Given the description of an element on the screen output the (x, y) to click on. 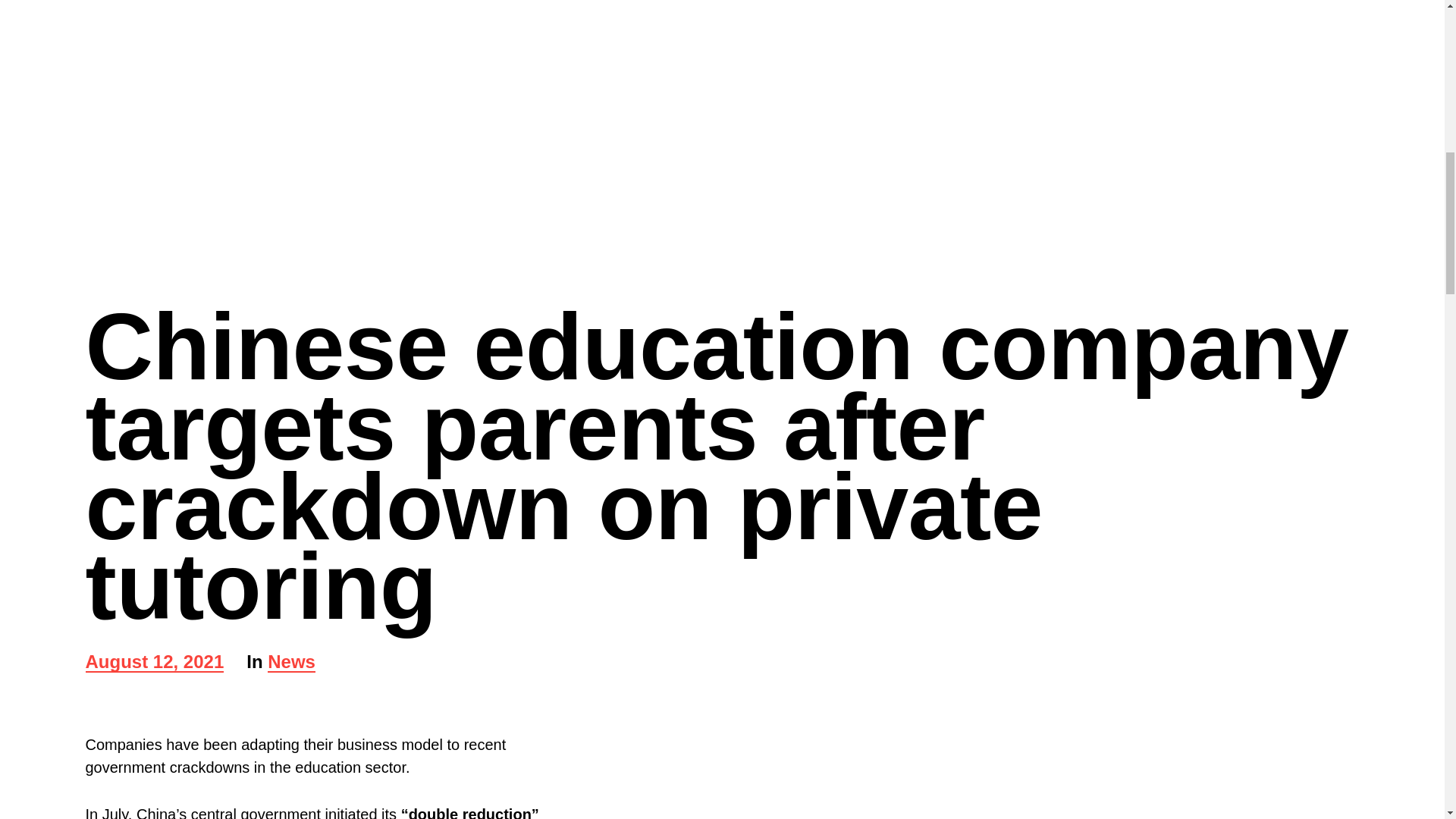
News (291, 662)
